Given the description of an element on the screen output the (x, y) to click on. 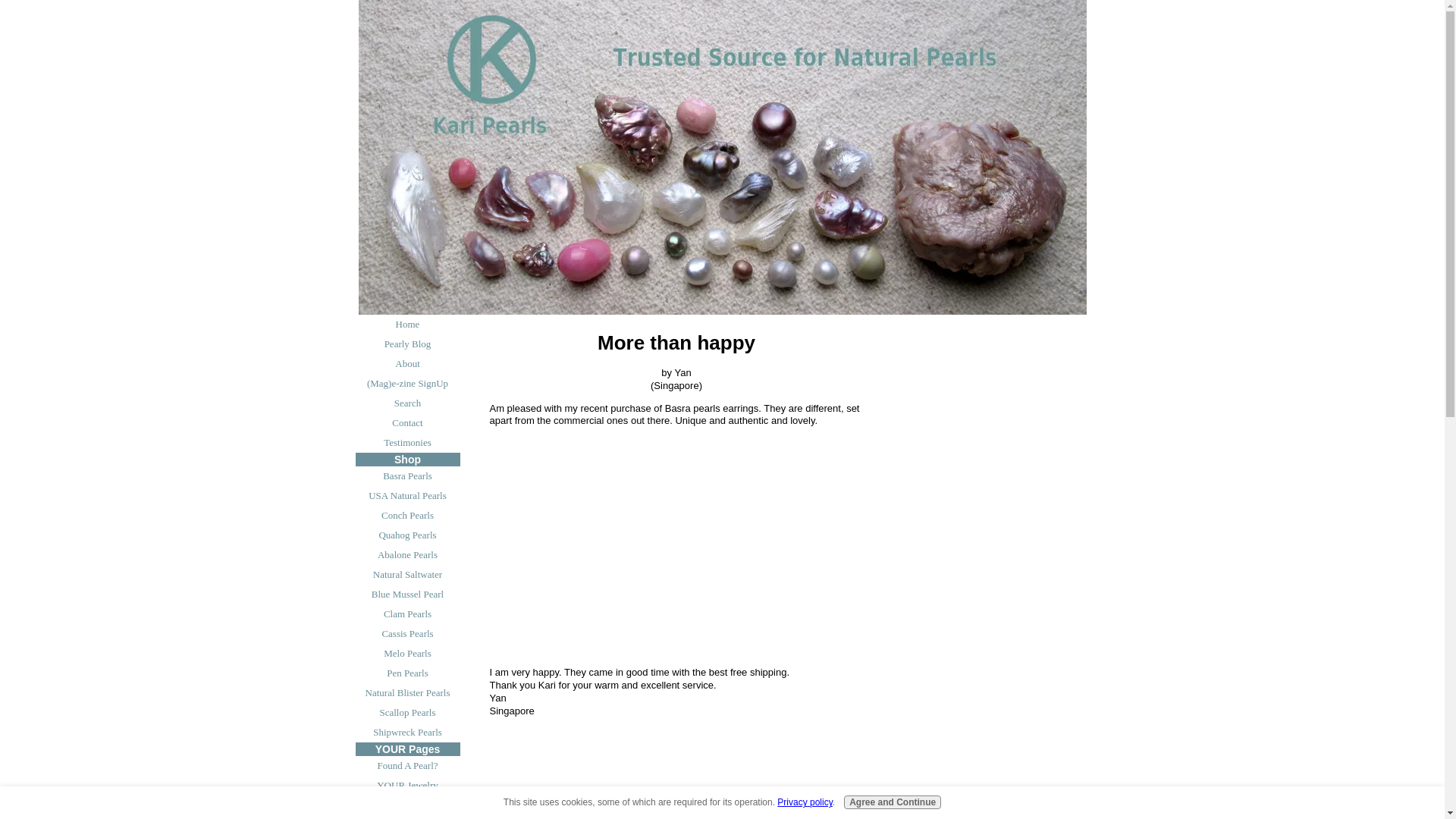
About (407, 363)
Advertisement (675, 556)
Pearly Blog (407, 343)
Abalone Pearls (407, 555)
Basra Pearls (407, 476)
Natural Saltwater (407, 574)
Conch Pearls (407, 515)
Testimonies (407, 442)
Blue Mussel Pearl (407, 594)
Pen Pearls (407, 673)
USA Natural Pearls (407, 496)
Cassis Pearls (407, 633)
Found A Pearl? (407, 765)
Advertisement (675, 775)
Quahog Pearls (407, 535)
